Given the description of an element on the screen output the (x, y) to click on. 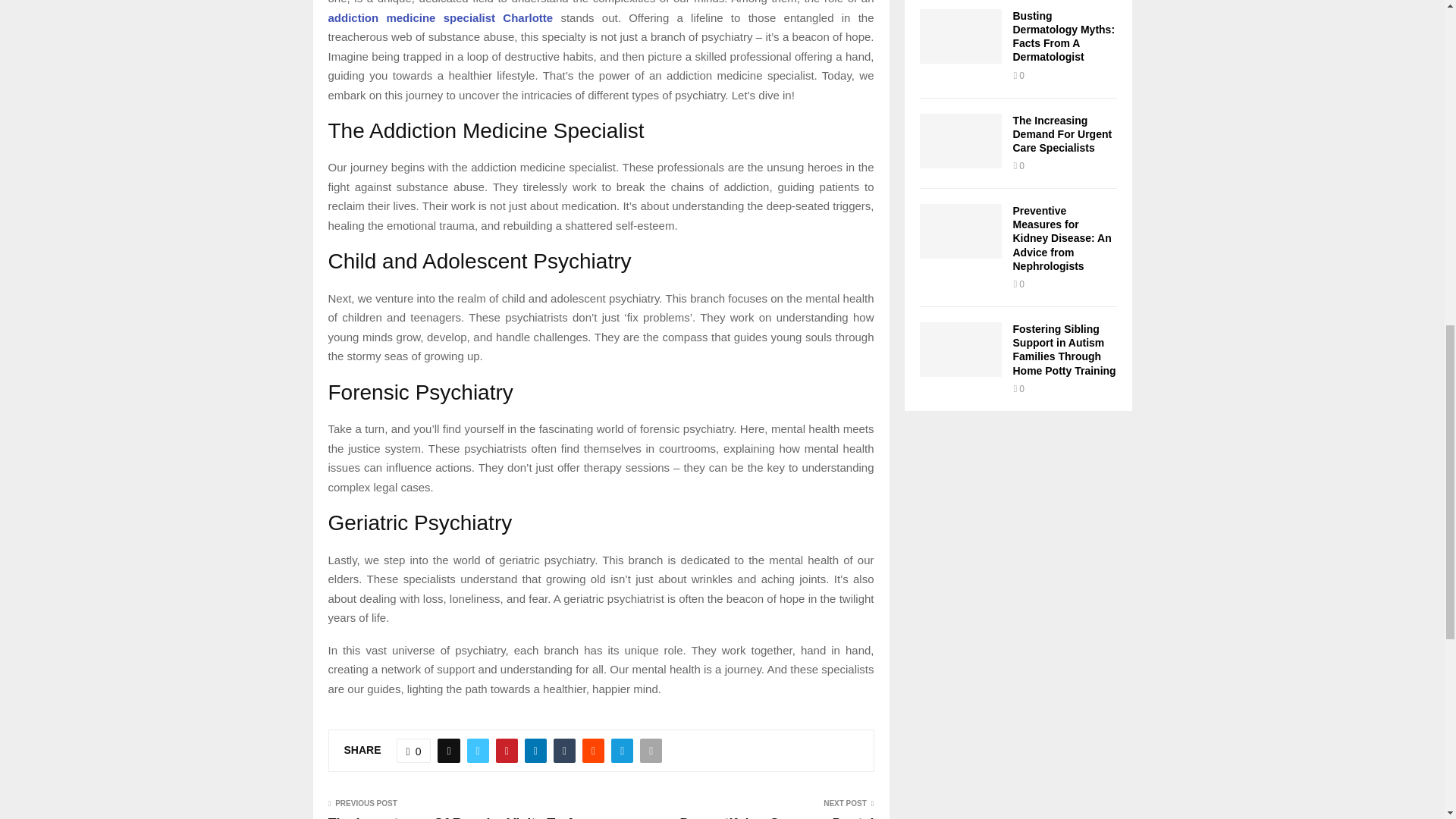
Like (413, 750)
